Given the description of an element on the screen output the (x, y) to click on. 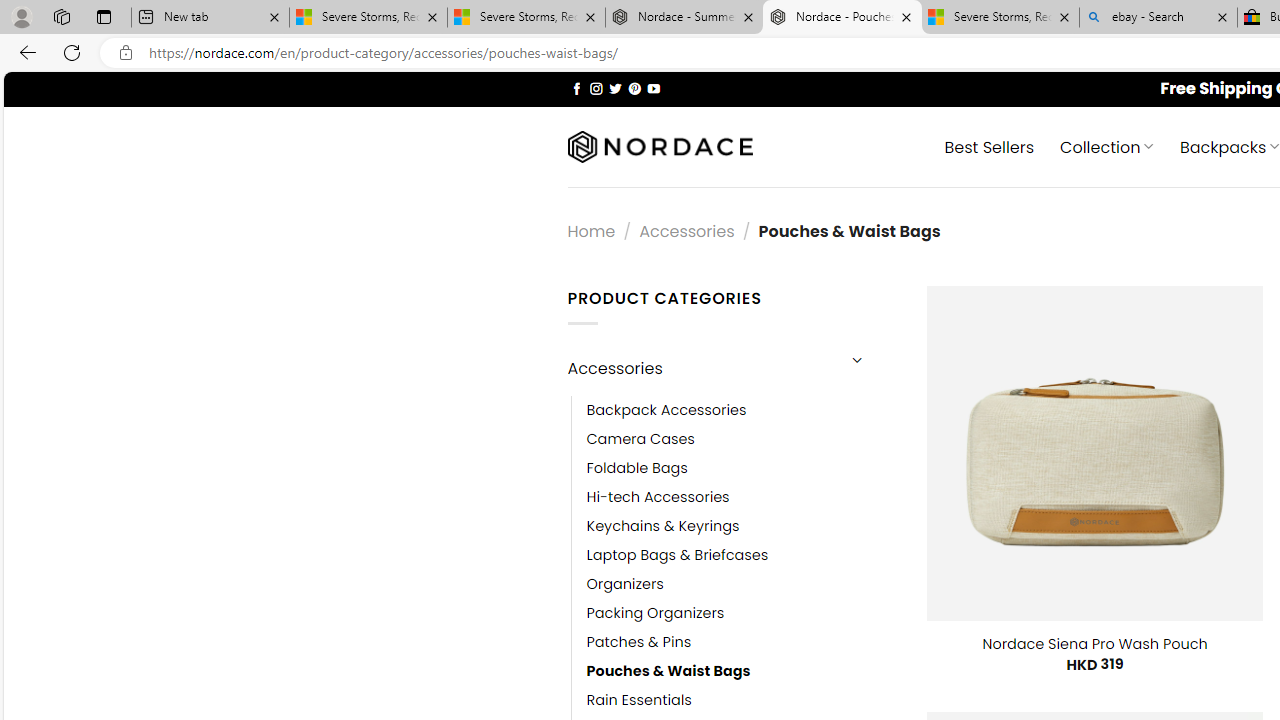
Follow on Pinterest (634, 88)
Camera Cases (742, 439)
Organizers (742, 584)
Backpack Accessories (666, 409)
